Given the description of an element on the screen output the (x, y) to click on. 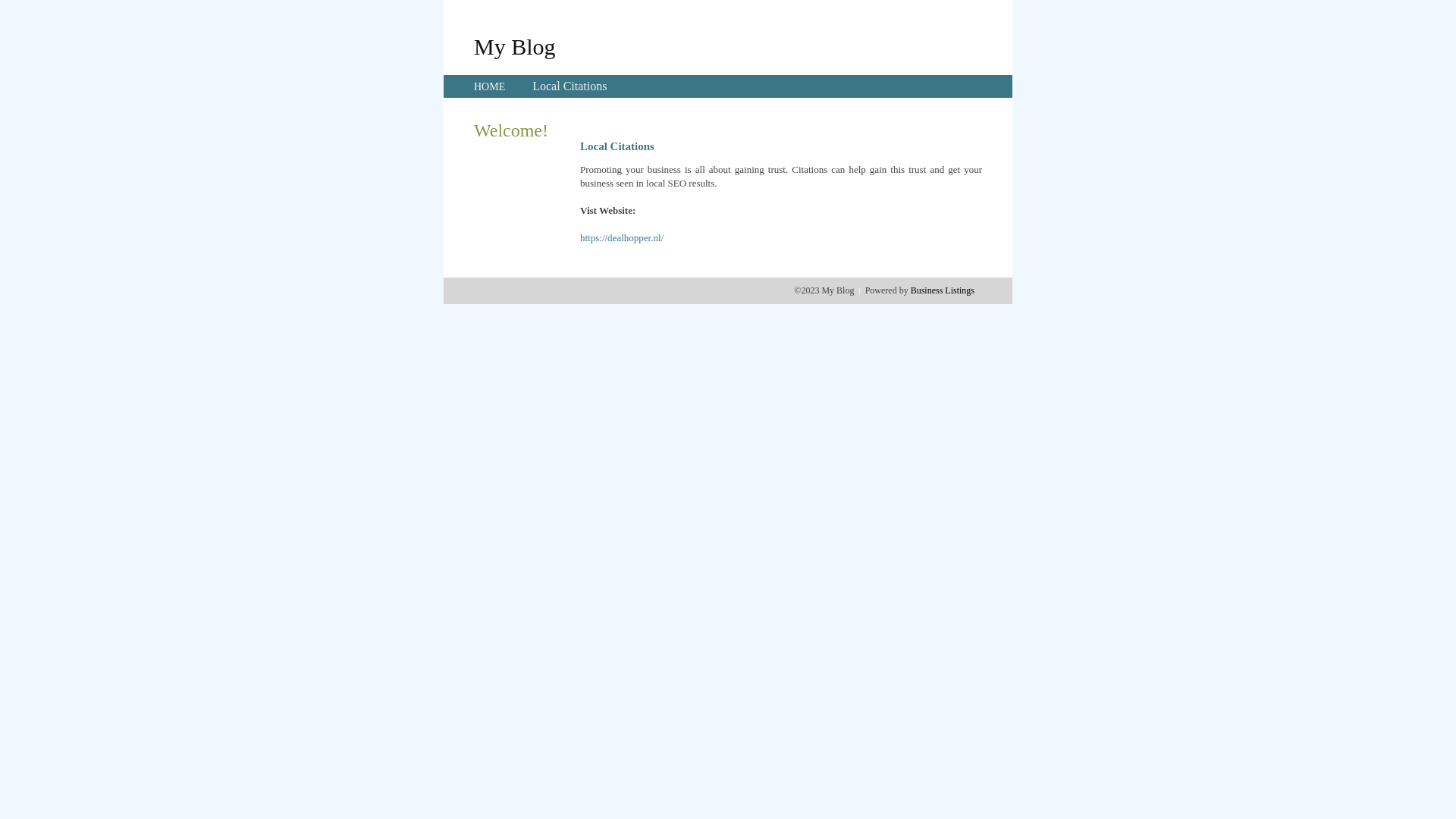
HOME Element type: text (489, 86)
Business Listings Element type: text (942, 290)
My Blog Element type: text (514, 46)
Local Citations Element type: text (569, 85)
https://dealhopper.nl/ Element type: text (621, 237)
